Given the description of an element on the screen output the (x, y) to click on. 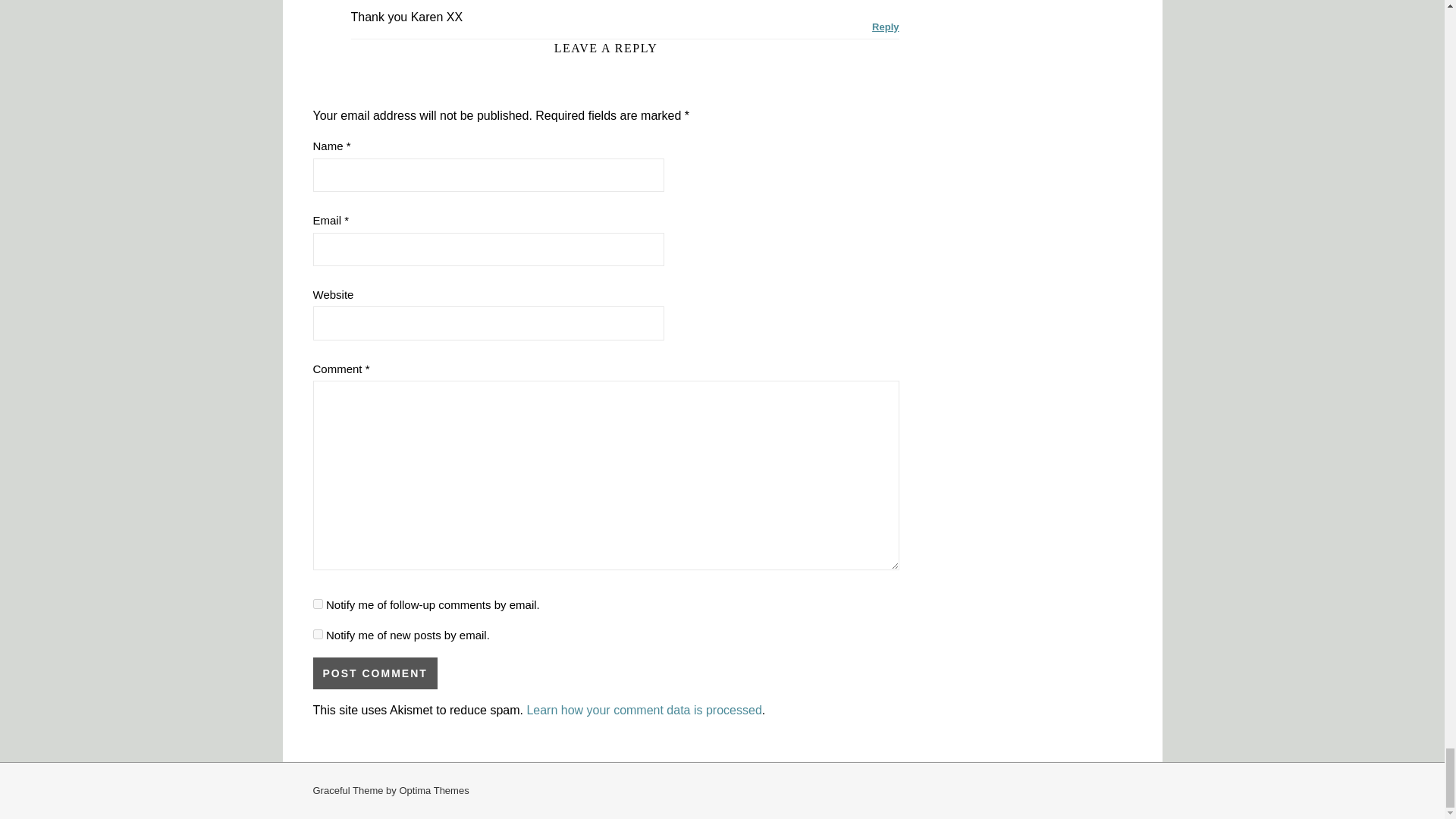
subscribe (317, 603)
Post Comment (374, 673)
subscribe (317, 634)
